Given the description of an element on the screen output the (x, y) to click on. 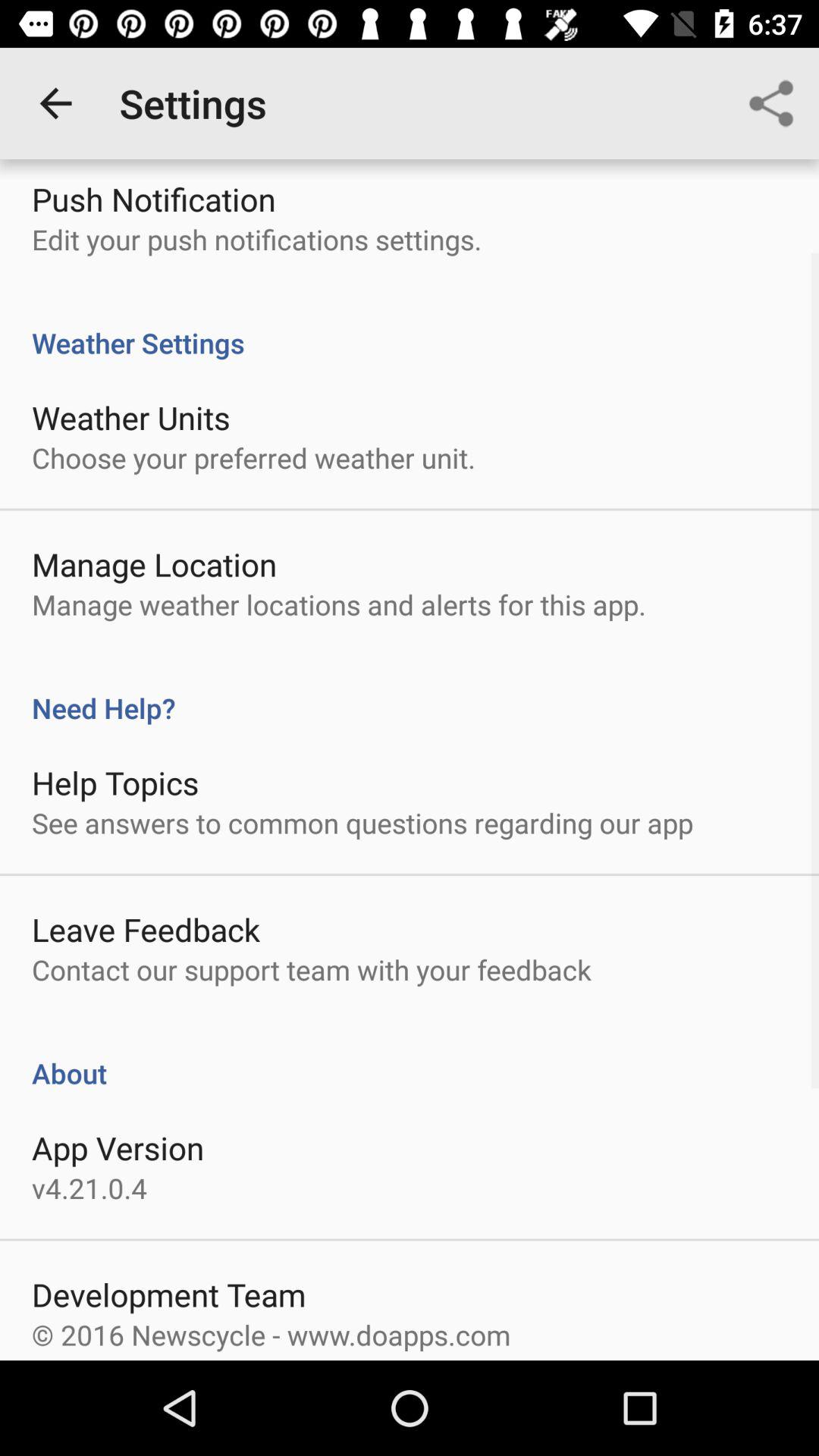
flip until contact our support icon (311, 969)
